Given the description of an element on the screen output the (x, y) to click on. 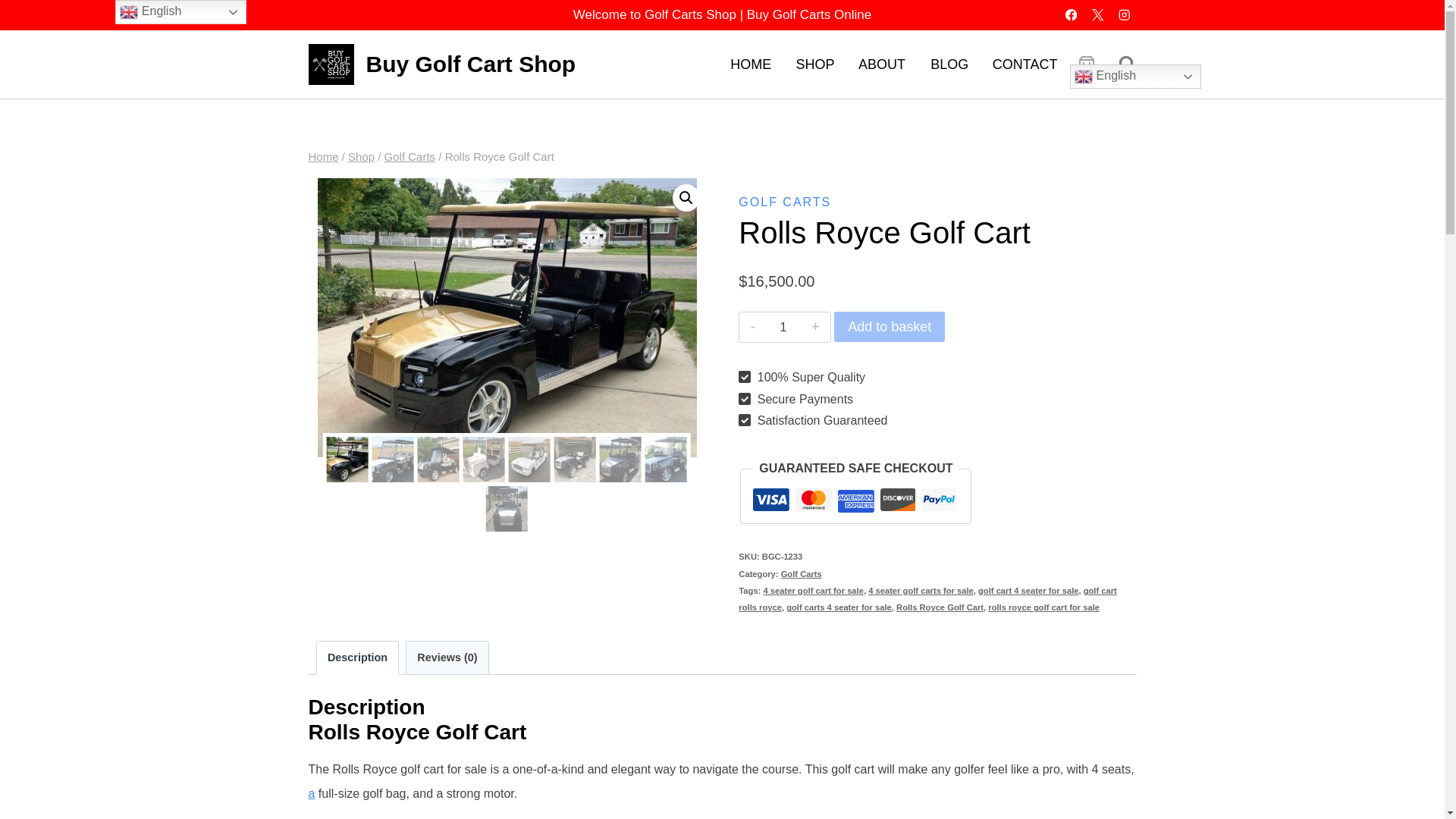
rolls royce golf cart for sale (507, 317)
CONTACT (1024, 63)
1 (783, 327)
ABOUT (881, 63)
Golf Carts (409, 155)
Shop (360, 155)
English (1135, 76)
Home (322, 155)
HOME (750, 63)
SHOP (814, 63)
- (752, 326)
BLOG (948, 63)
Buy Golf Cart Shop (441, 64)
